Given the description of an element on the screen output the (x, y) to click on. 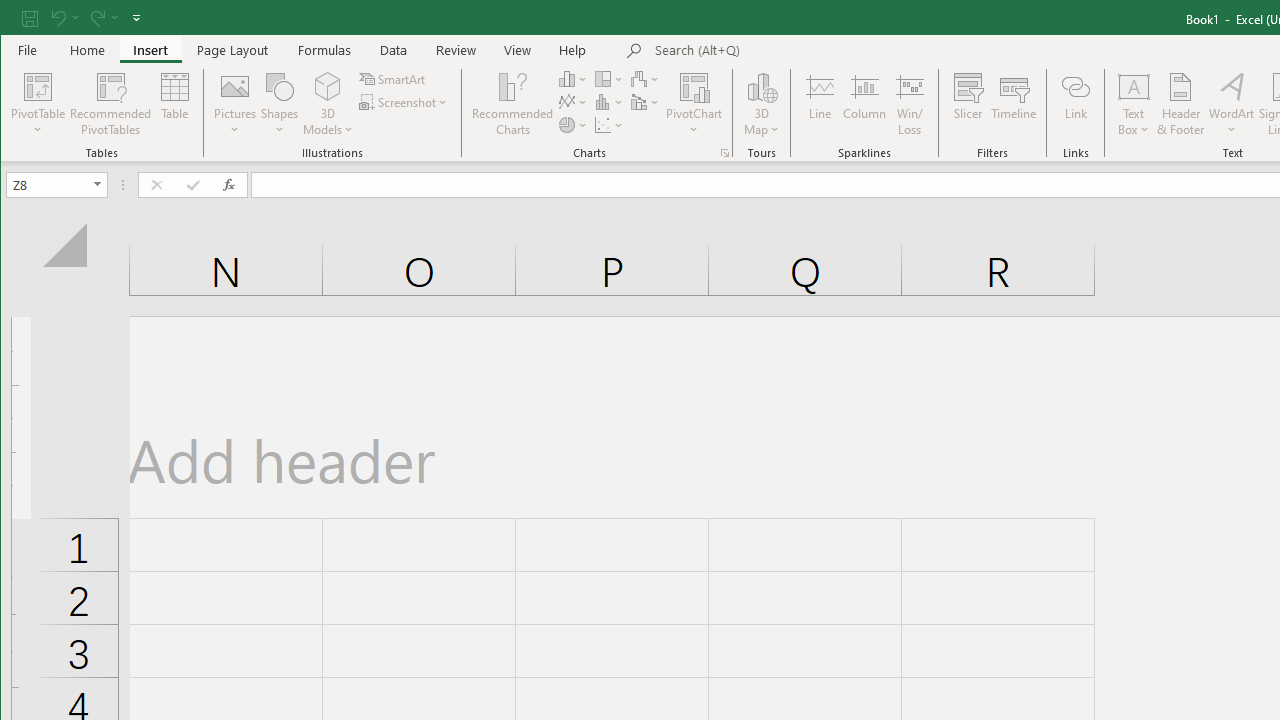
Header & Footer... (1180, 104)
Column (864, 104)
Link (1075, 104)
Insert Waterfall, Funnel, Stock, Surface, or Radar Chart (646, 78)
Insert Hierarchy Chart (609, 78)
Insert Line or Area Chart (573, 101)
3D Map (762, 86)
3D Models (327, 86)
Draw Horizontal Text Box (1133, 86)
